Given the description of an element on the screen output the (x, y) to click on. 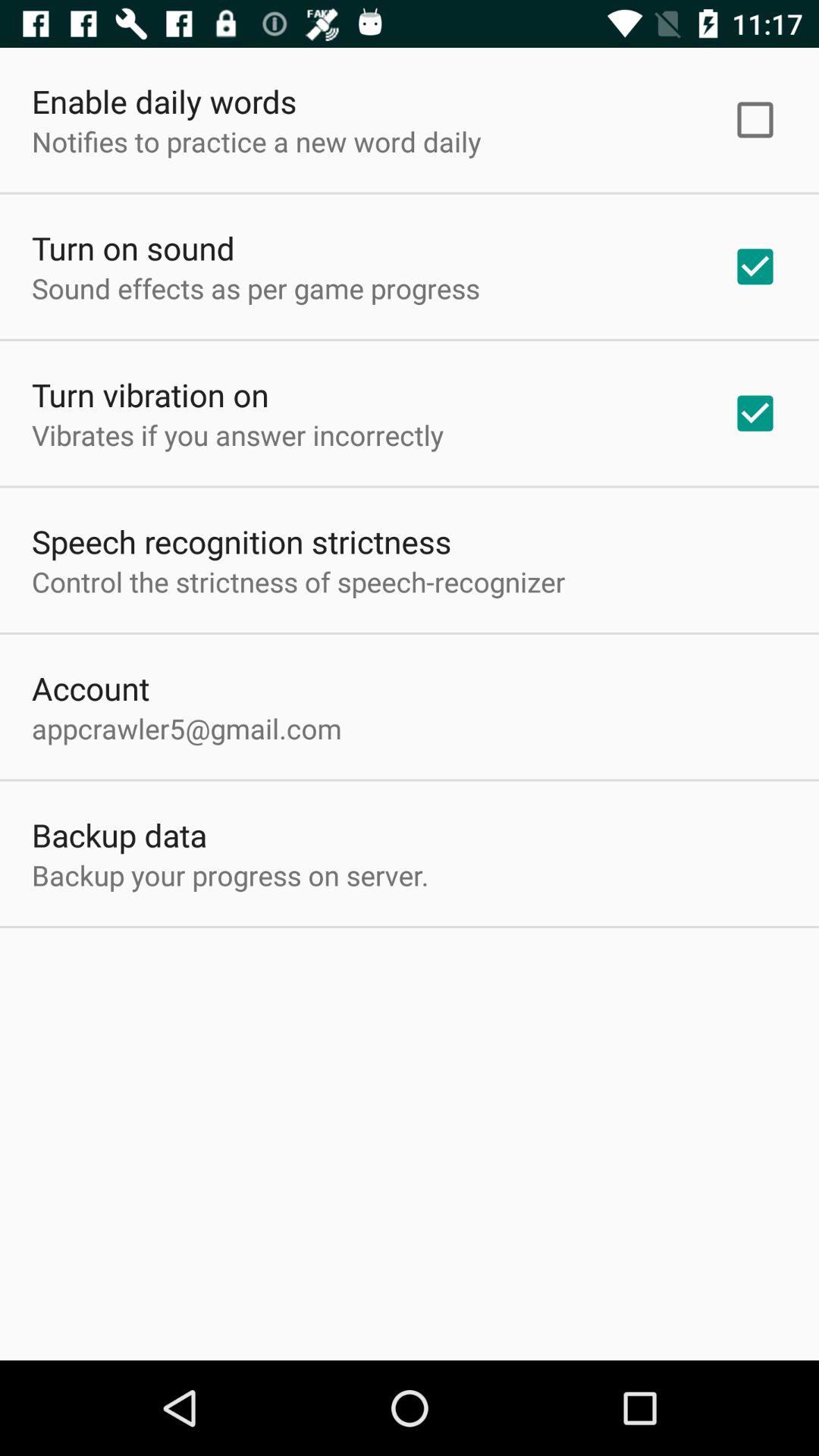
select backup your progress (229, 875)
